Given the description of an element on the screen output the (x, y) to click on. 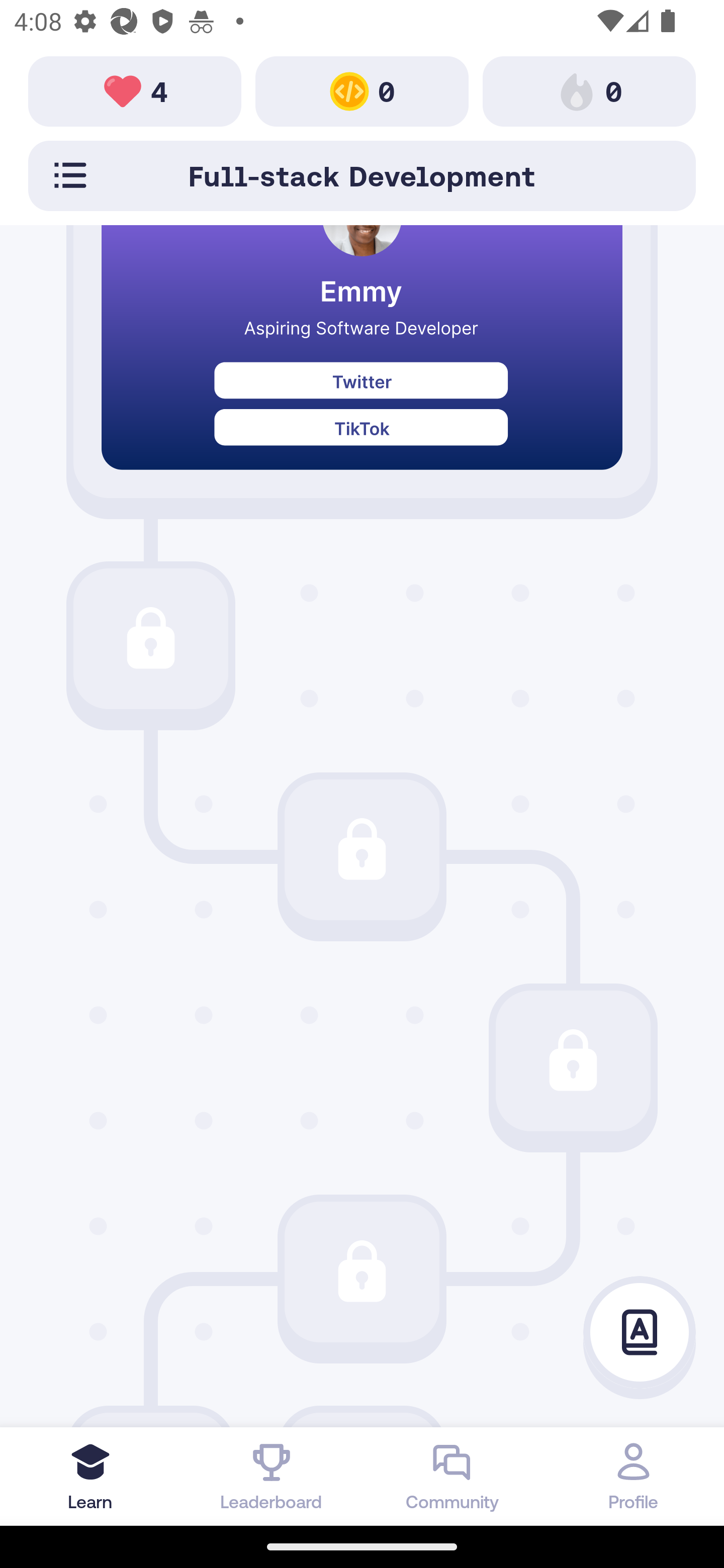
Path Toolbar Image 4 (134, 90)
Path Toolbar Image 0 (361, 90)
Path Toolbar Image 0 (588, 90)
Path Toolbar Selector Full-stack Development (361, 175)
preview image (361, 361)
Path Icon (150, 637)
Path Icon (361, 849)
Path Icon (572, 1060)
Path Icon (361, 1271)
Glossary Icon (639, 1332)
Leaderboard (271, 1475)
Community (452, 1475)
Profile (633, 1475)
